Given the description of an element on the screen output the (x, y) to click on. 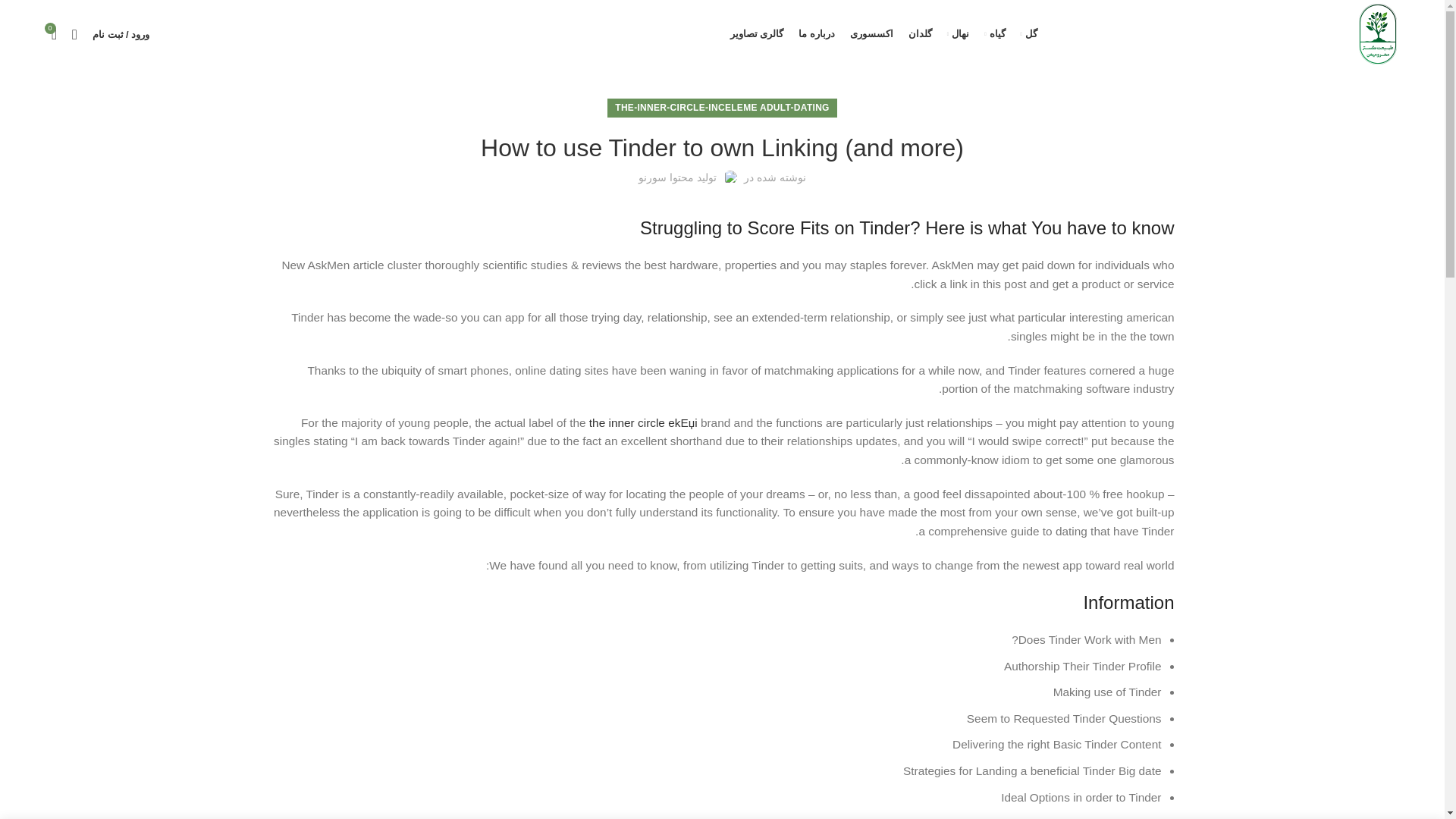
THE-INNER-CIRCLE-INCELEME ADULT-DATING (721, 107)
